Given the description of an element on the screen output the (x, y) to click on. 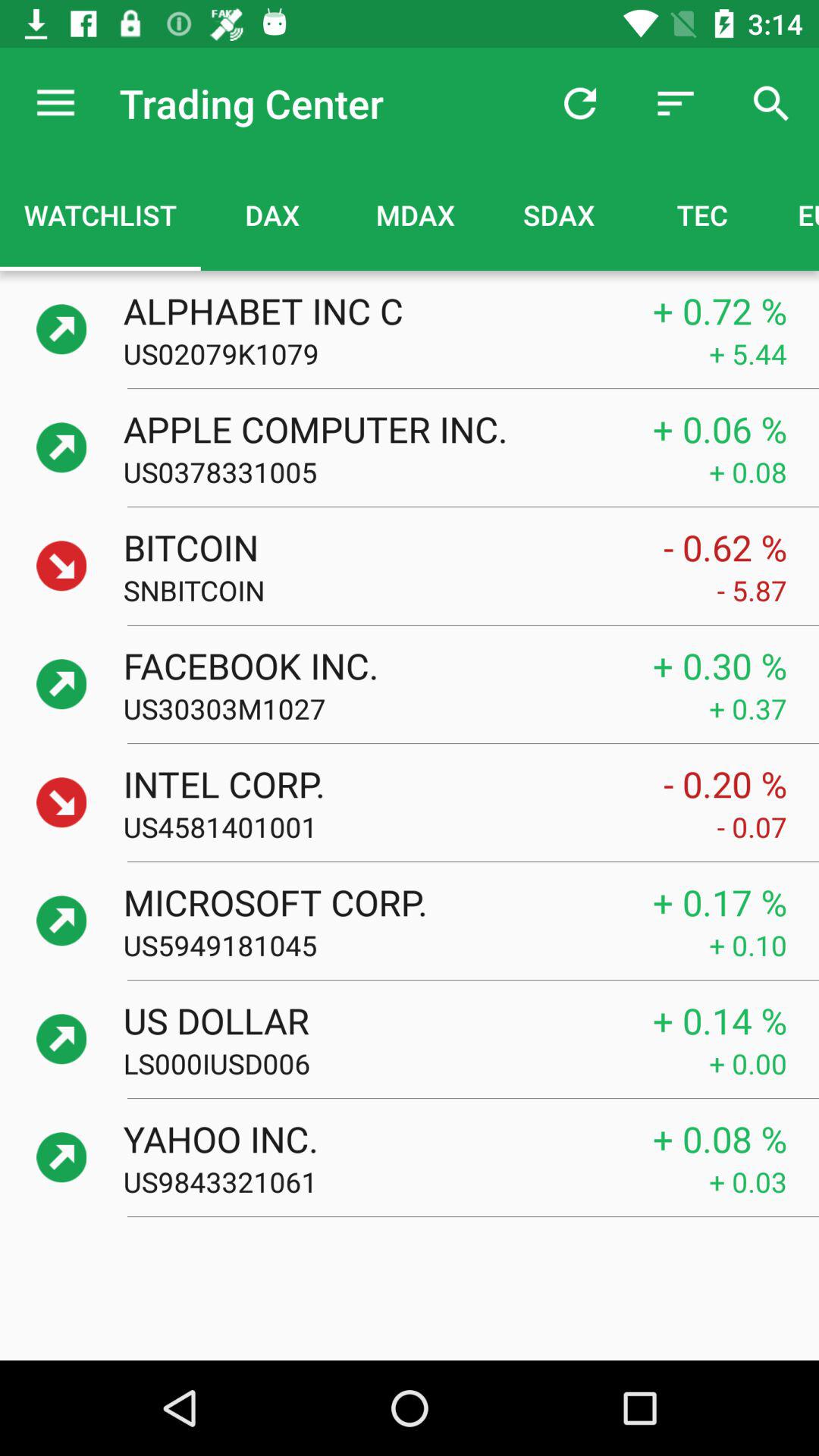
choose item above ls000iusd006 item (372, 1020)
